Given the description of an element on the screen output the (x, y) to click on. 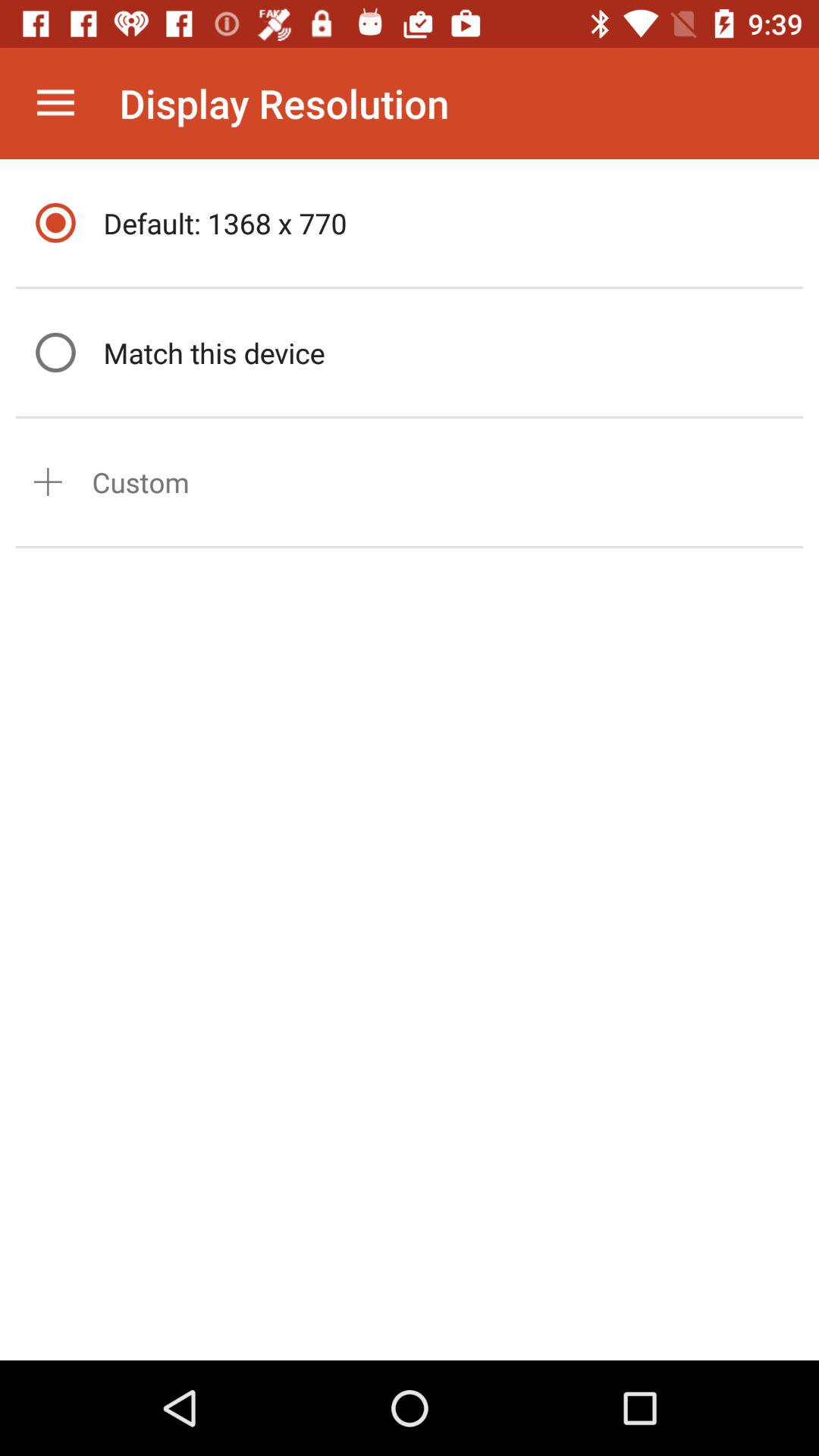
turn on the icon next to the display resolution icon (55, 103)
